Given the description of an element on the screen output the (x, y) to click on. 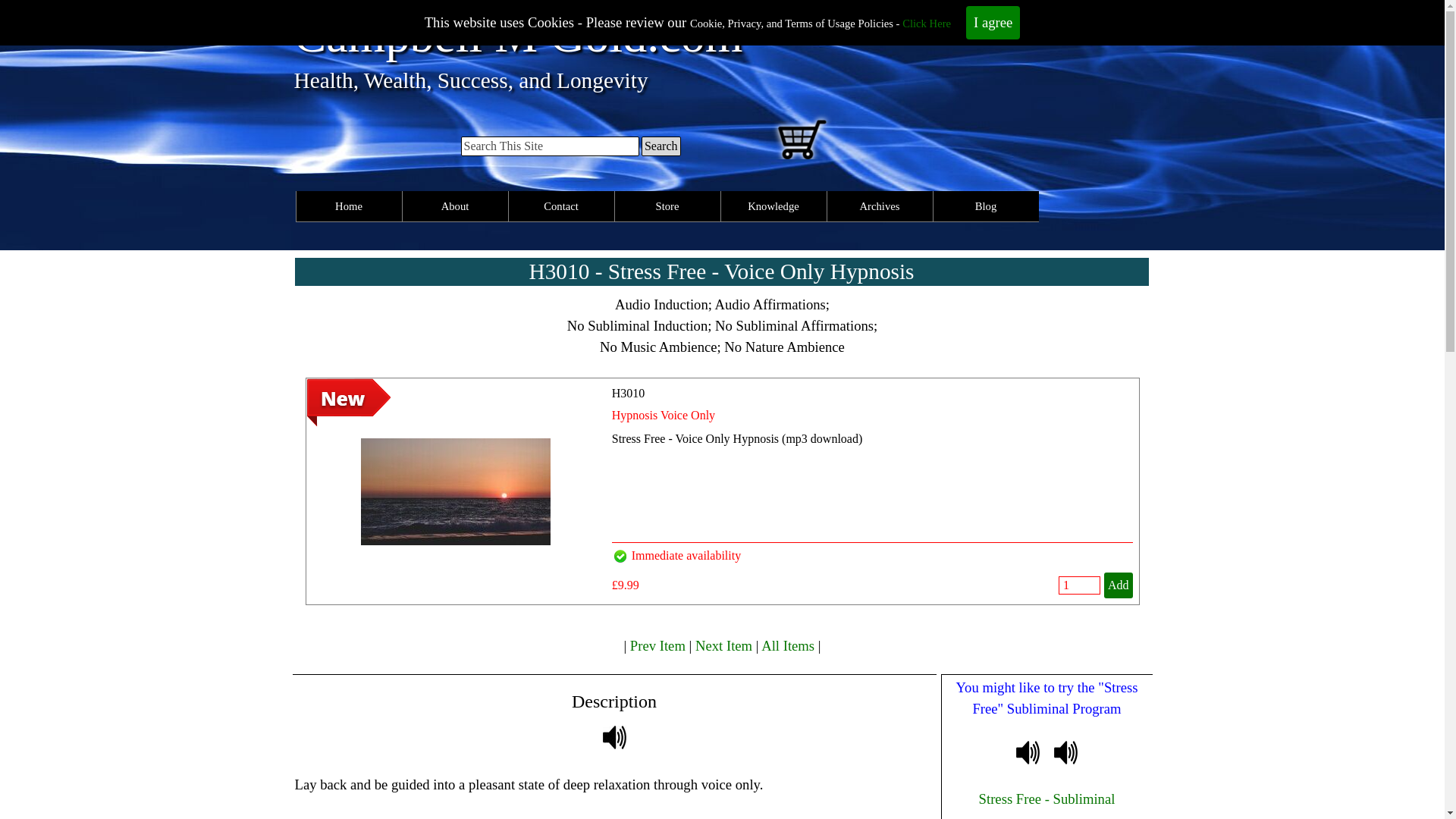
Home (347, 205)
Stress Free - Zen (1065, 752)
About (453, 205)
Store (666, 205)
Blog (985, 205)
Archives (879, 205)
Health, Wealth, Success, and Longevity (470, 79)
Stress Free - Piano (1027, 752)
1 (1079, 585)
Stress Free (614, 737)
Knowledge (772, 205)
Click Here (926, 23)
Contact (560, 205)
Search (661, 146)
Campbell M Gold.com (518, 35)
